Given the description of an element on the screen output the (x, y) to click on. 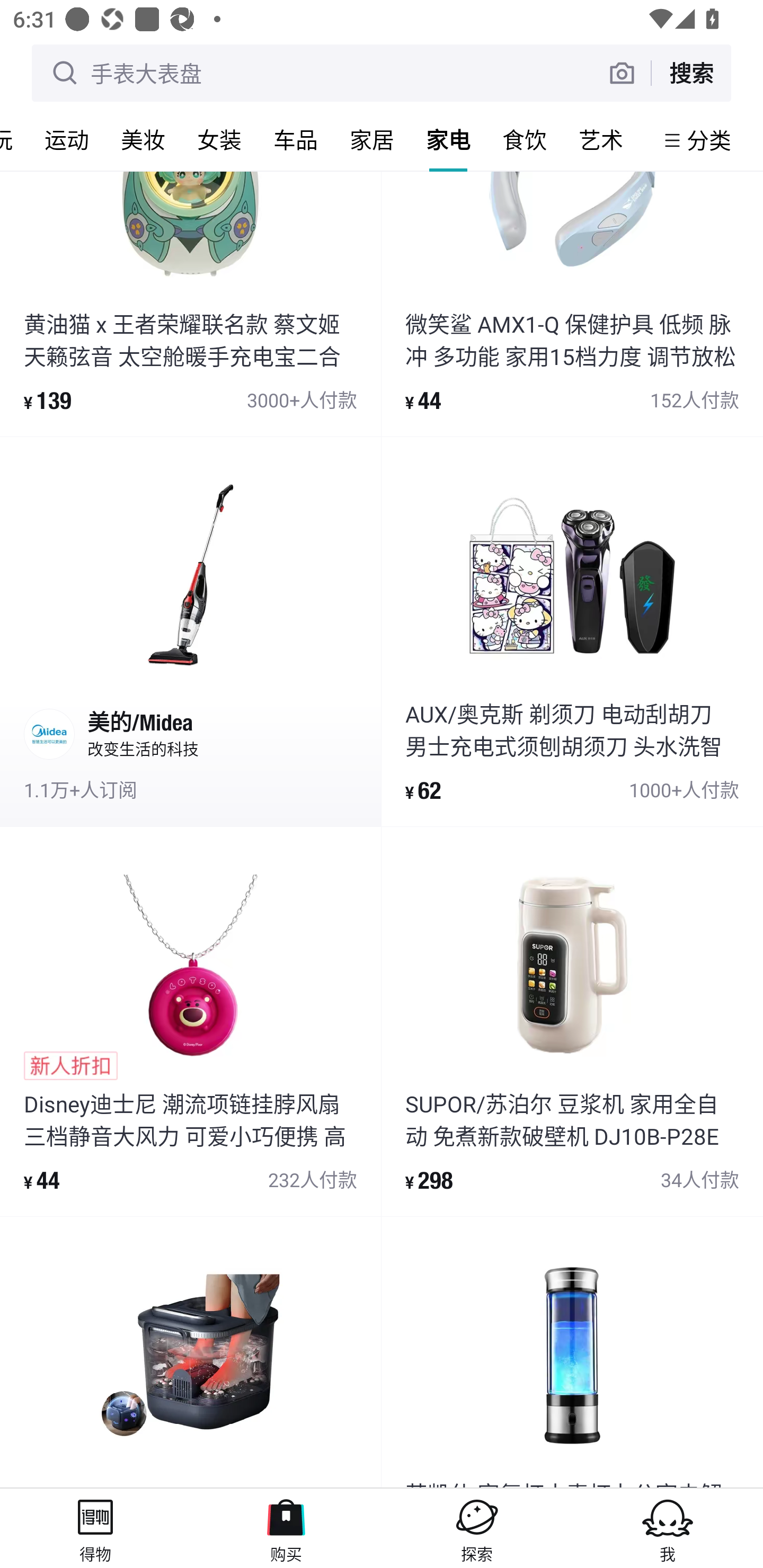
搜索 (690, 72)
运动 (66, 139)
美妆 (143, 139)
女装 (219, 139)
车品 (295, 139)
家居 (372, 139)
家电 (448, 139)
食饮 (524, 139)
艺术 (601, 139)
分类 (708, 139)
美的/Midea 改变生活的科技 1.1万+人订阅 (190, 631)
得物 (95, 1528)
购买 (285, 1528)
探索 (476, 1528)
我 (667, 1528)
